Given the description of an element on the screen output the (x, y) to click on. 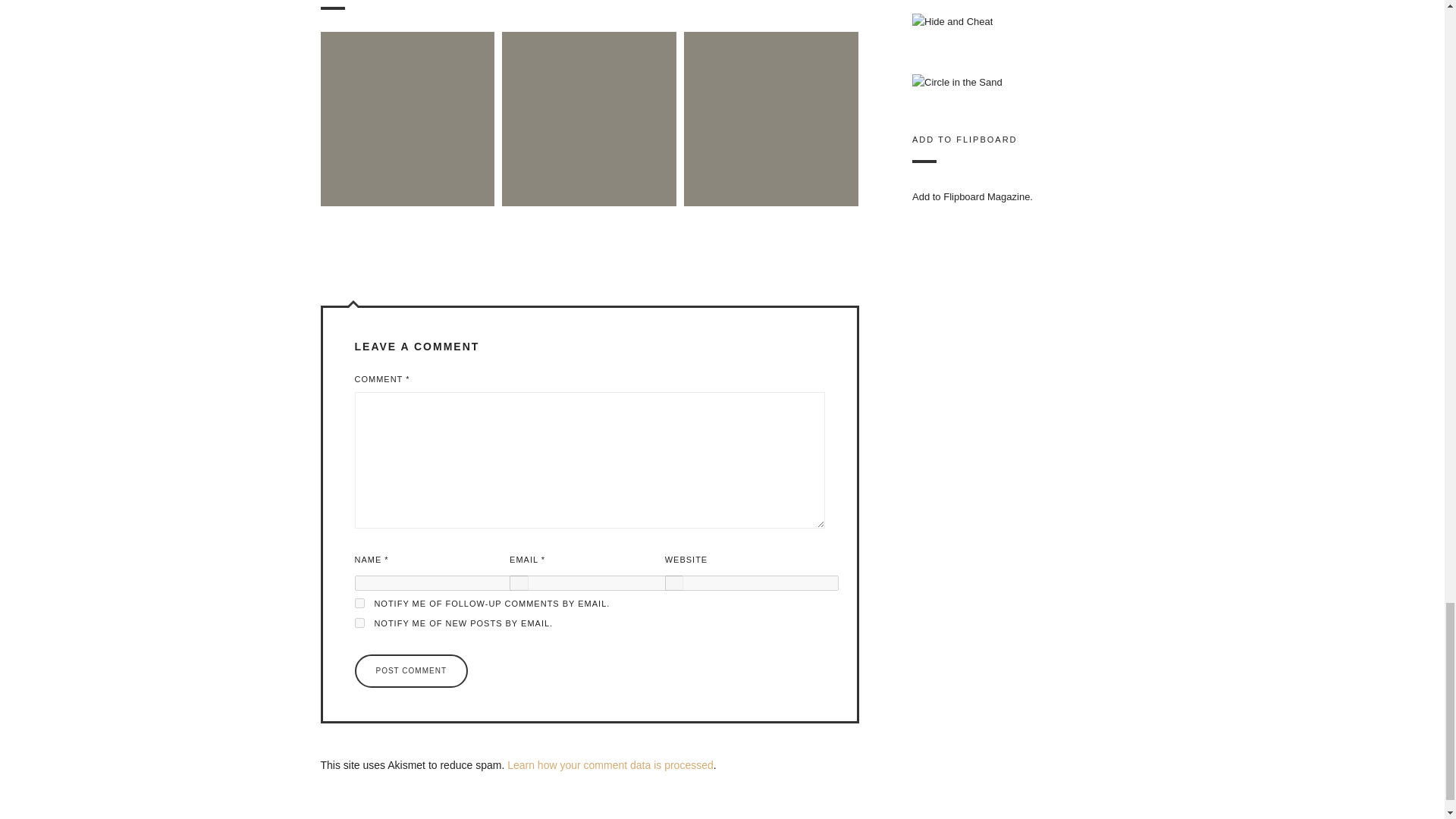
Post Comment (411, 670)
